Given the description of an element on the screen output the (x, y) to click on. 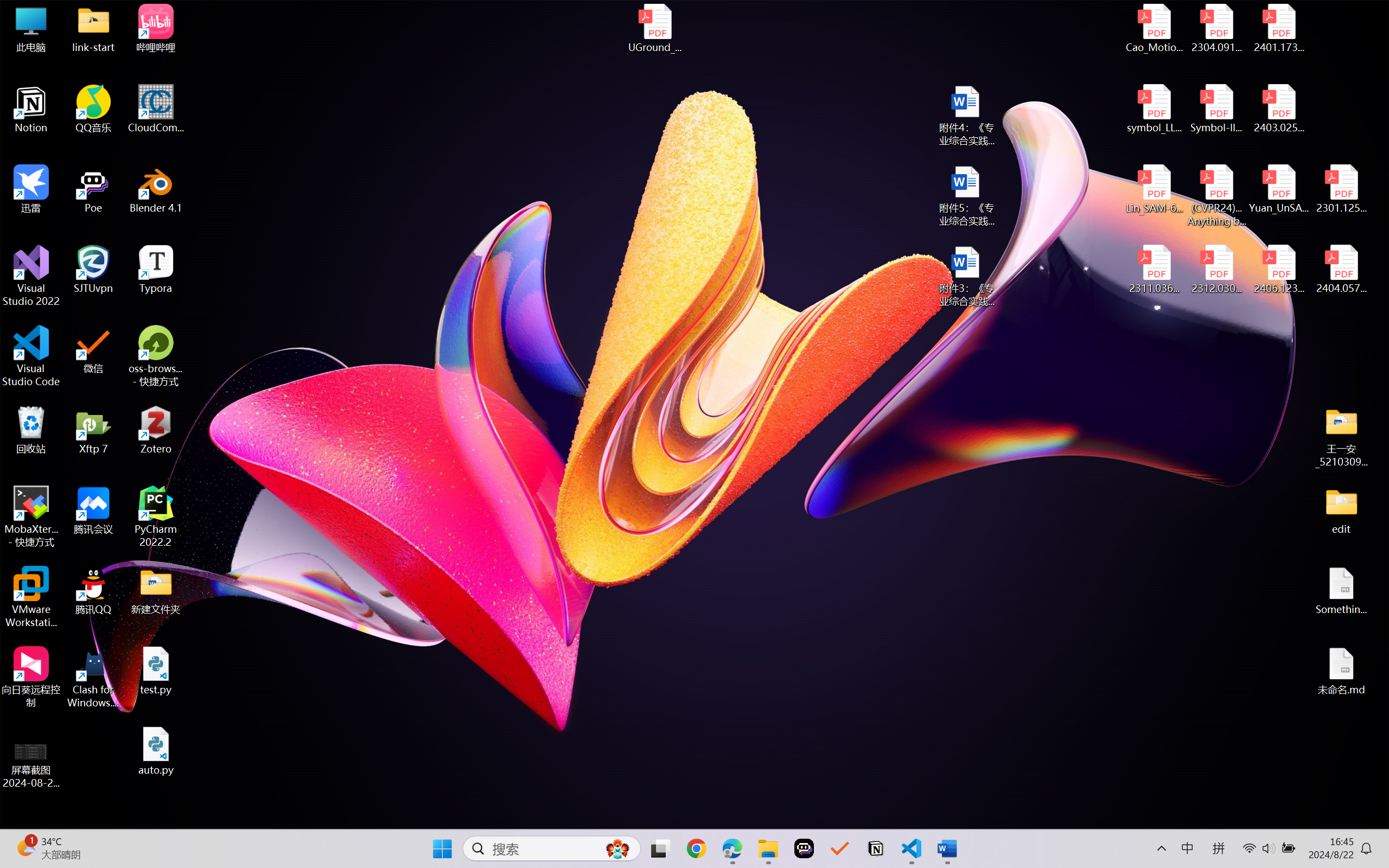
2406.12373v2.pdf (1278, 269)
UGround_paper.pdf (654, 28)
(CVPR24)Matching Anything by Segmenting Anything.pdf (1216, 195)
Typora (156, 269)
2312.03032v2.pdf (1216, 269)
2311.03658v2.pdf (1154, 269)
VMware Workstation Pro (31, 597)
